Given the description of an element on the screen output the (x, y) to click on. 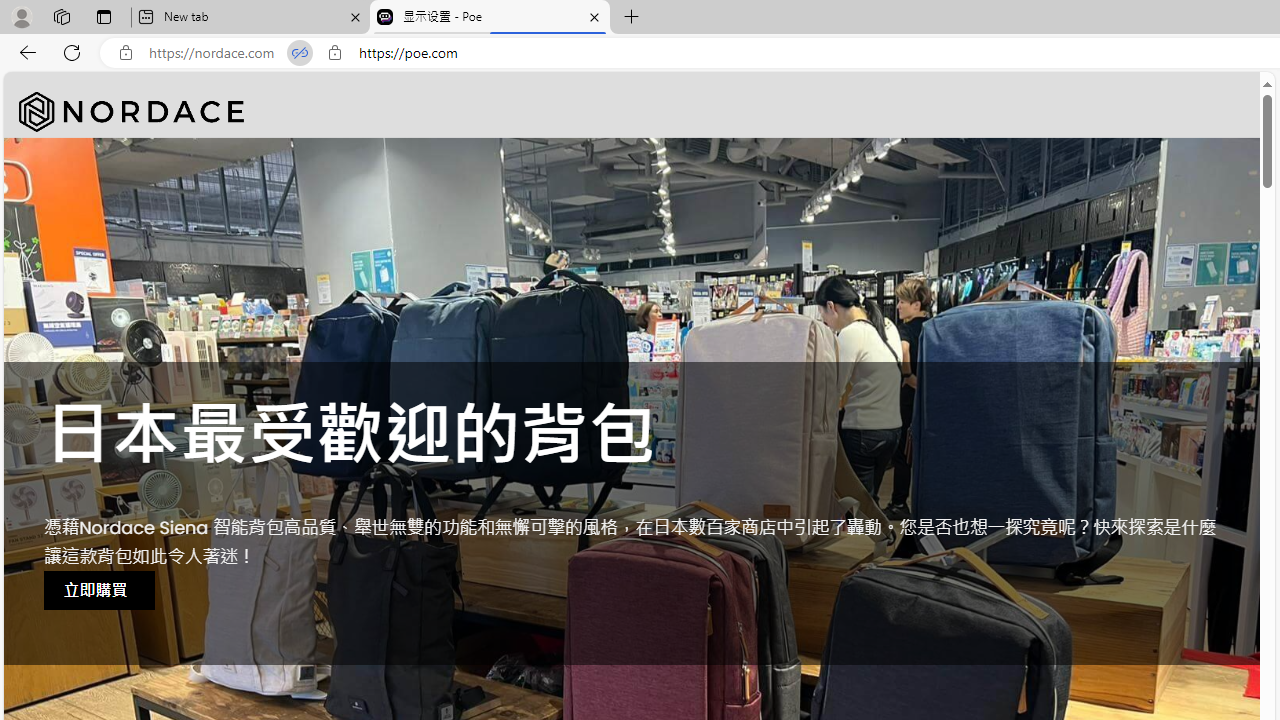
Tabs in split screen (299, 53)
